Given the description of an element on the screen output the (x, y) to click on. 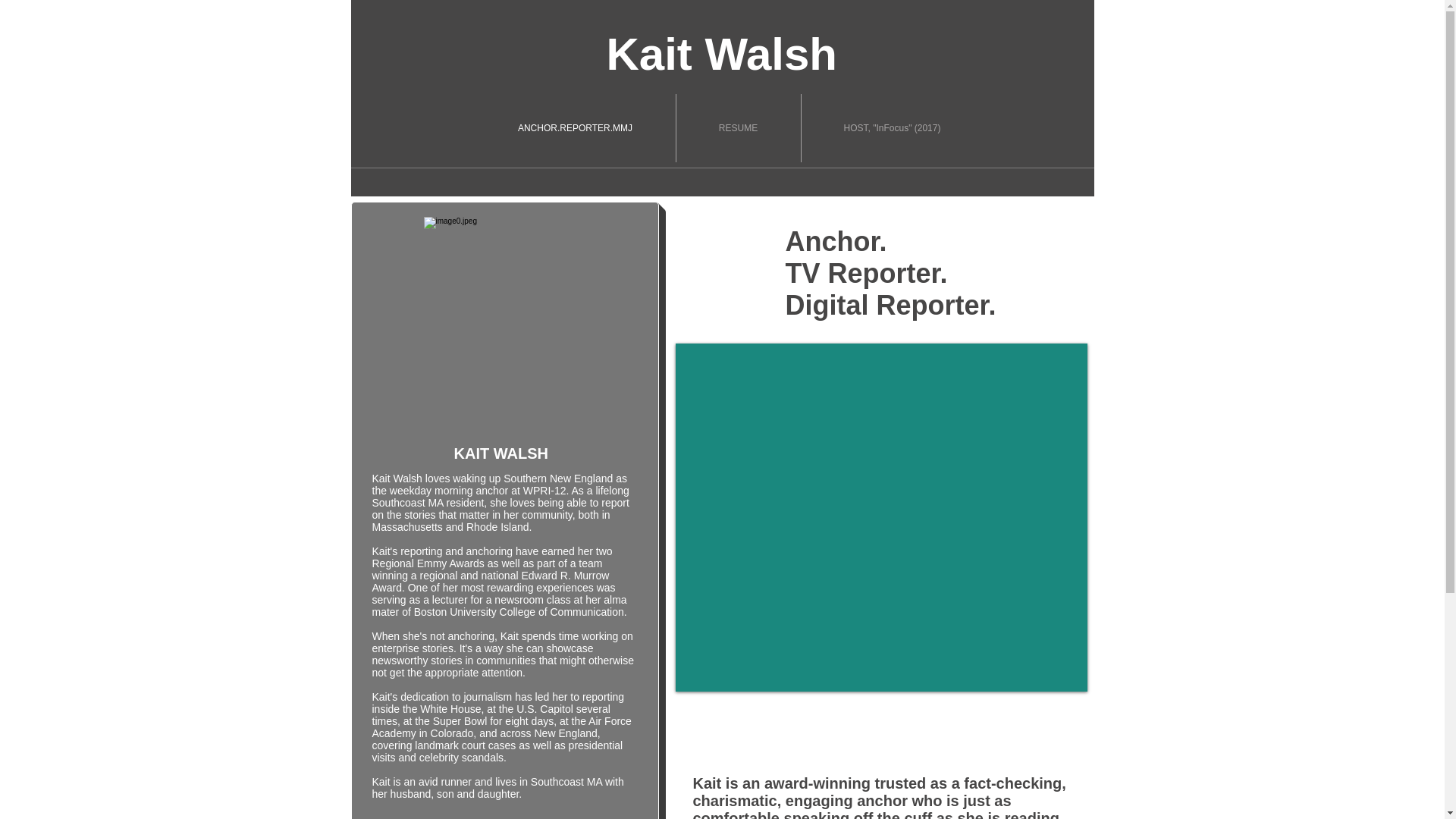
ANCHOR.REPORTER.MMJ (574, 128)
RESUME (738, 128)
